Given the description of an element on the screen output the (x, y) to click on. 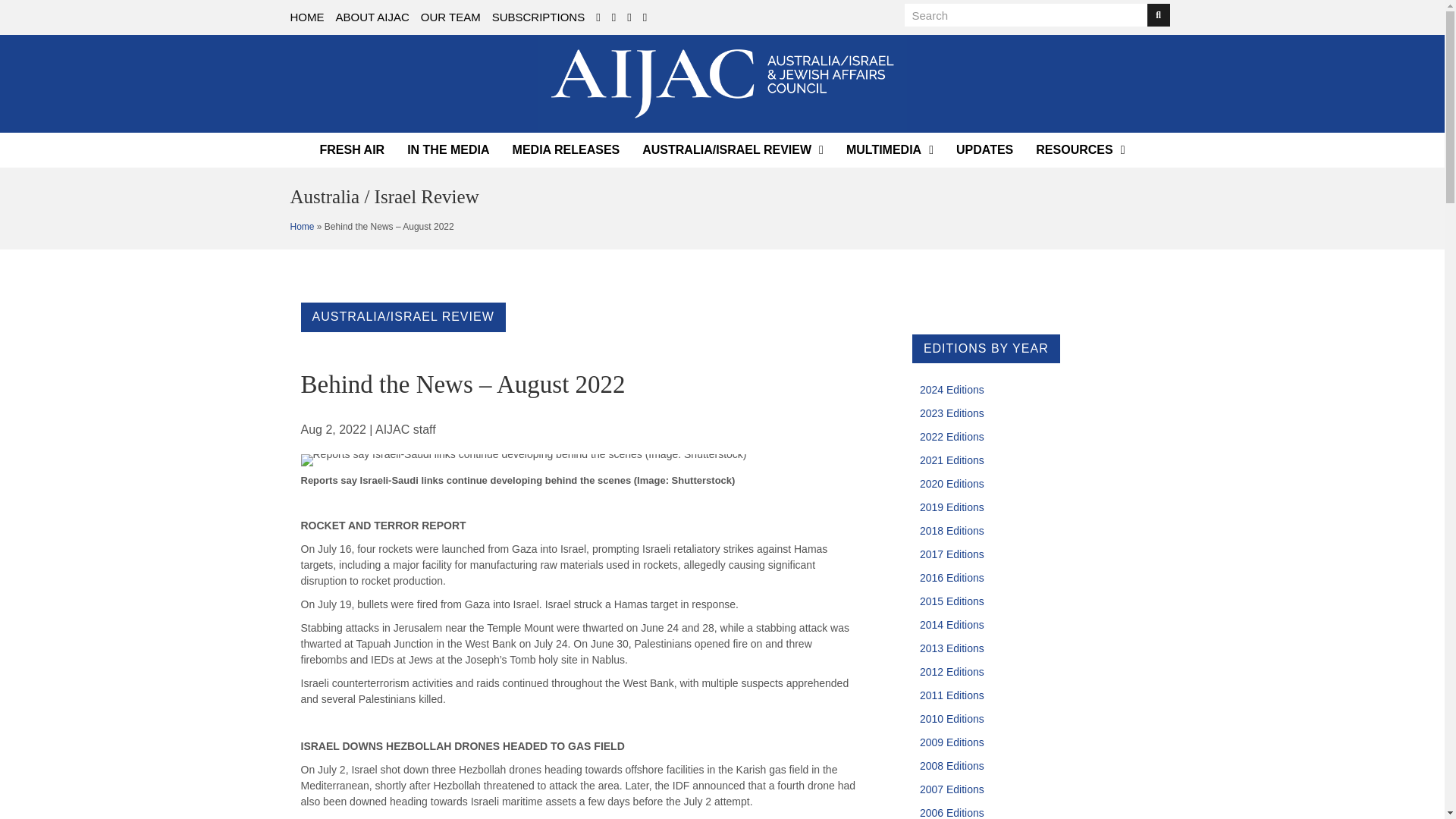
Puzzle,With,The,National,Flag,Of,Israel,And,Saudi,Arabia (522, 460)
Search (1025, 15)
MEDIA RELEASES (566, 149)
SUBSCRIPTIONS (538, 17)
Aijac Logo Blue White 3a (722, 83)
OUR TEAM (450, 17)
ABOUT AIJAC (371, 17)
HOME (306, 17)
FRESH AIR (353, 149)
IN THE MEDIA (447, 149)
